Given the description of an element on the screen output the (x, y) to click on. 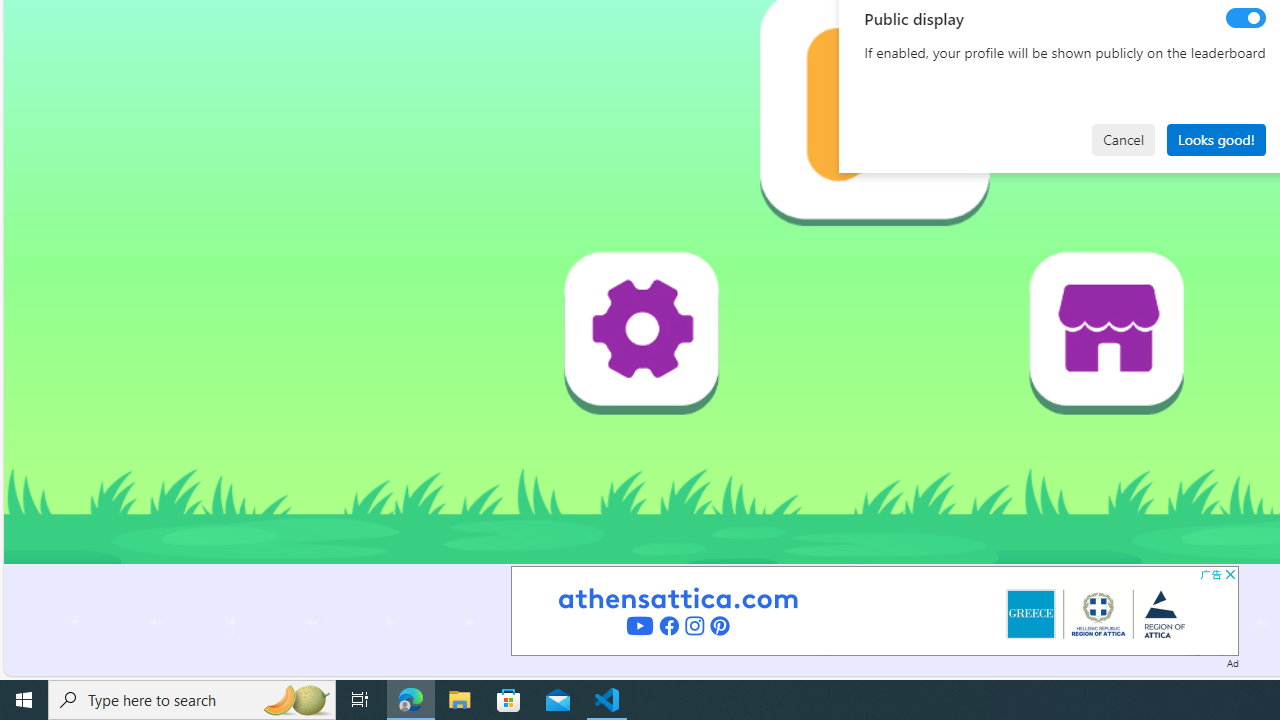
AutomationID: cbb (1229, 574)
Advertisement (874, 610)
Looks good! (1216, 139)
Advertisement (874, 610)
Cancel (1123, 139)
